Given the description of an element on the screen output the (x, y) to click on. 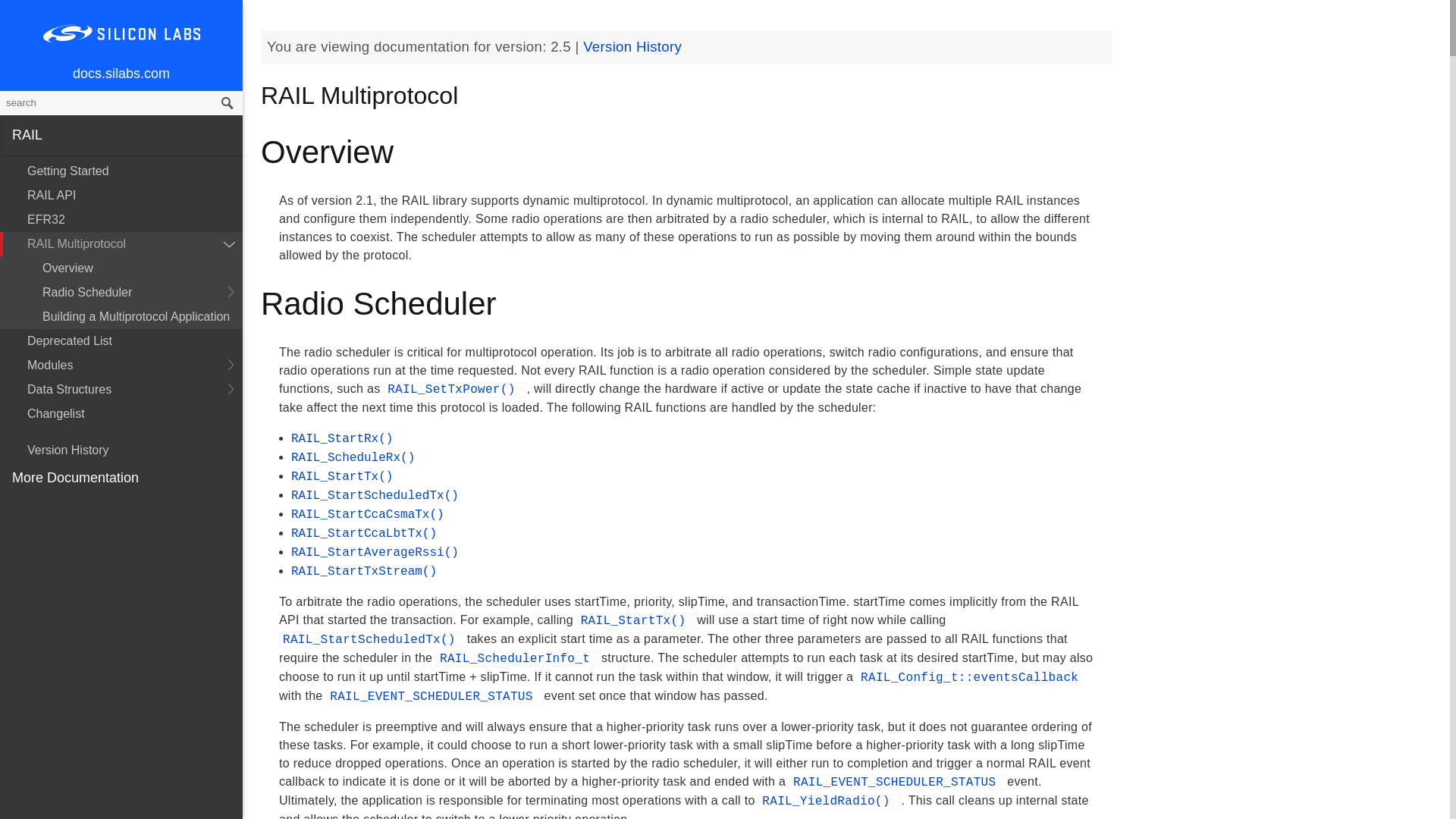
Overview (121, 268)
Getting Started (121, 170)
EFR32 (121, 219)
Radio Scheduler (121, 292)
Building a Multiprotocol Application (121, 316)
docs.silabs.com (120, 73)
RAIL Multiprotocol (121, 243)
RAIL API (121, 195)
Deprecated List (121, 340)
Modules (121, 364)
